Given the description of an element on the screen output the (x, y) to click on. 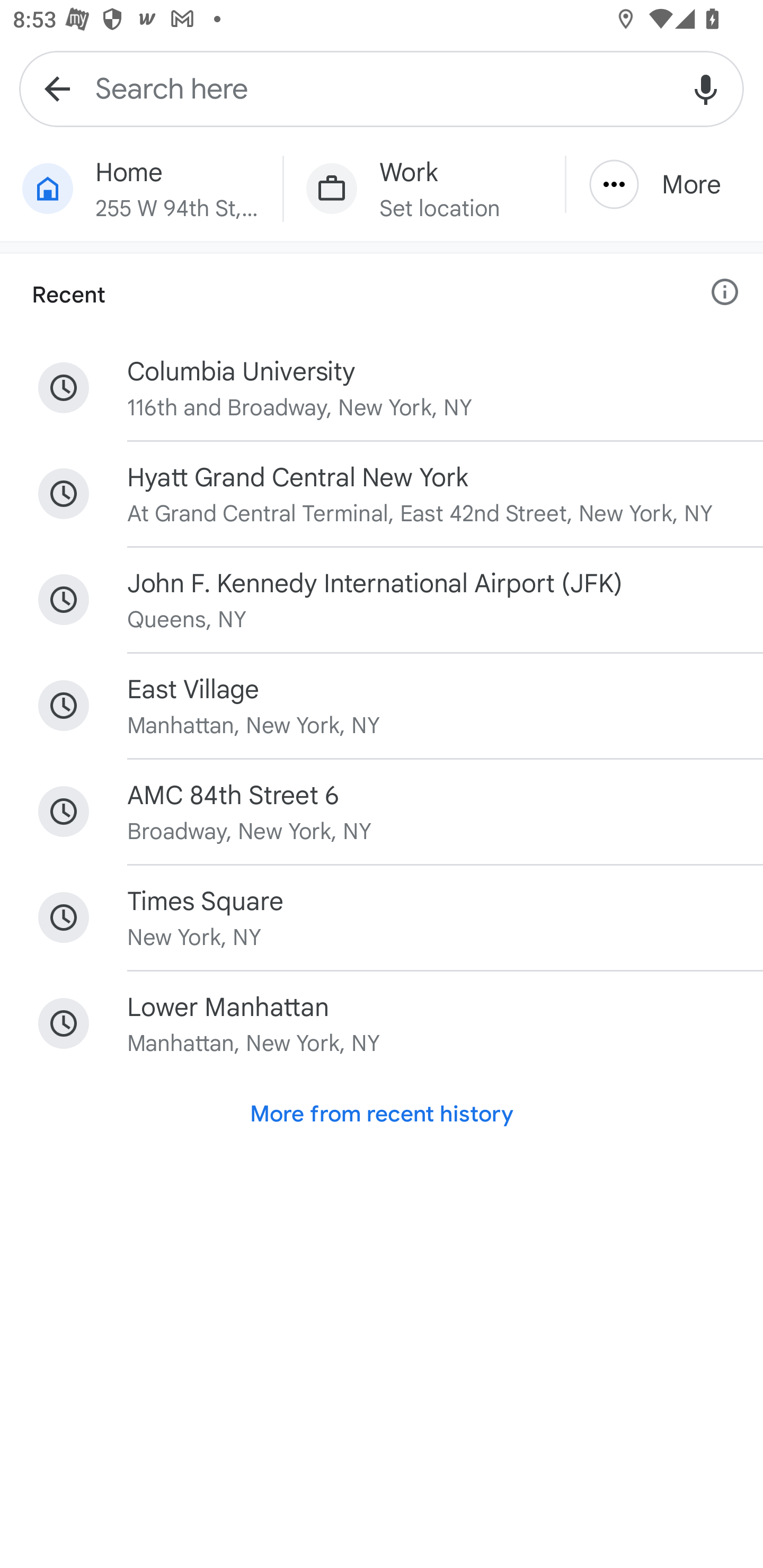
Navigate up (57, 88)
Search here (381, 88)
Voice search (705, 88)
Work Set location (423, 188)
More (664, 184)
East Village Manhattan, New York, NY (381, 705)
AMC 84th Street 6 Broadway, New York, NY (381, 810)
Times Square New York, NY (381, 917)
Lower Manhattan Manhattan, New York, NY (381, 1023)
More from recent history (381, 1113)
